Given the description of an element on the screen output the (x, y) to click on. 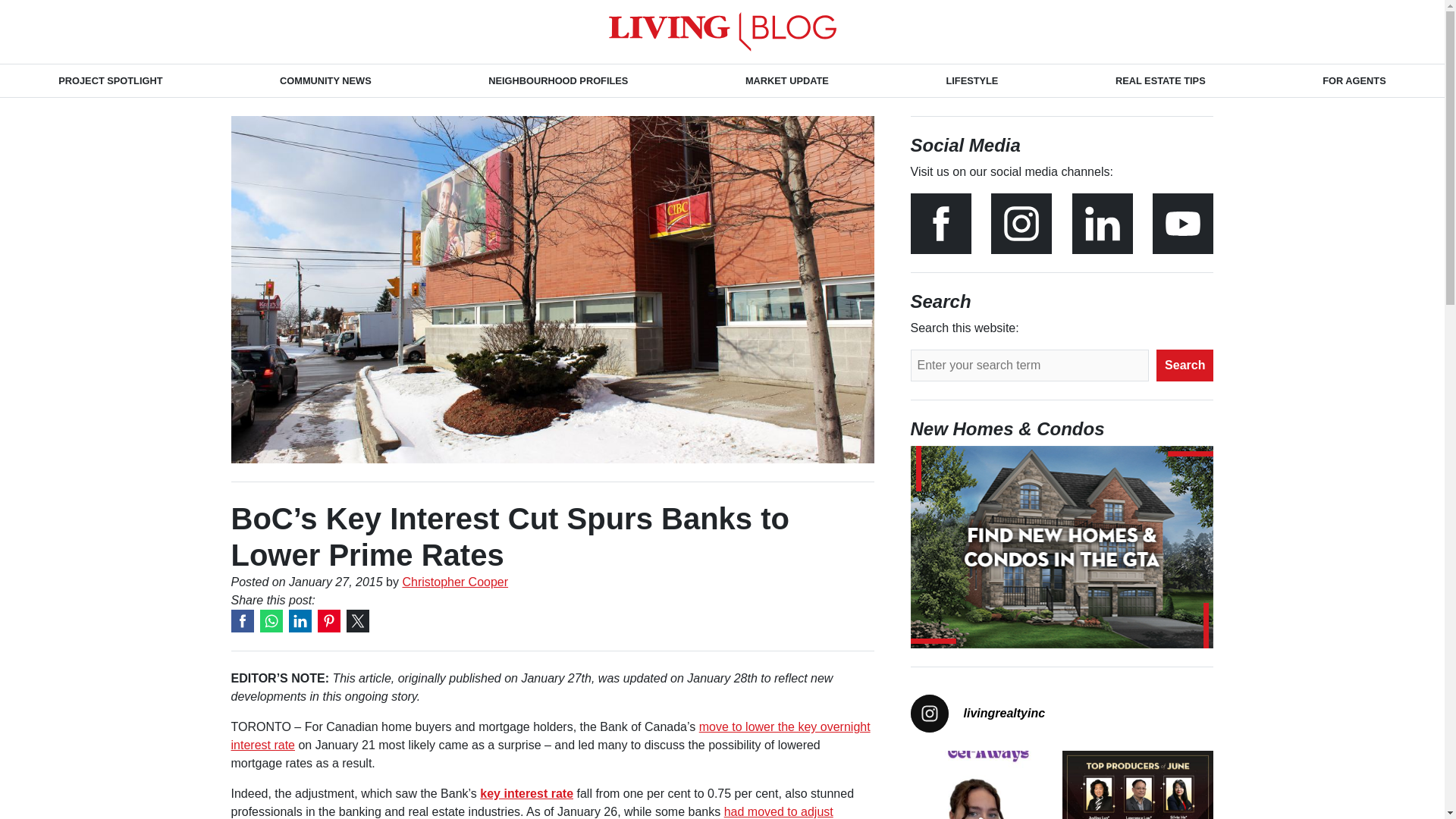
MARKET UPDATE (787, 80)
key interest rate (526, 793)
Search (1184, 365)
Christopher Cooper (454, 581)
LIFESTYLE (971, 80)
livingrealtyinc (1061, 713)
PROJECT SPOTLIGHT (110, 80)
had moved to adjust interest rates (531, 812)
NEIGHBOURHOOD PROFILES (558, 80)
COMMUNITY NEWS (325, 80)
REAL ESTATE TIPS (1160, 80)
move to lower the key overnight interest rate (549, 735)
